Given the description of an element on the screen output the (x, y) to click on. 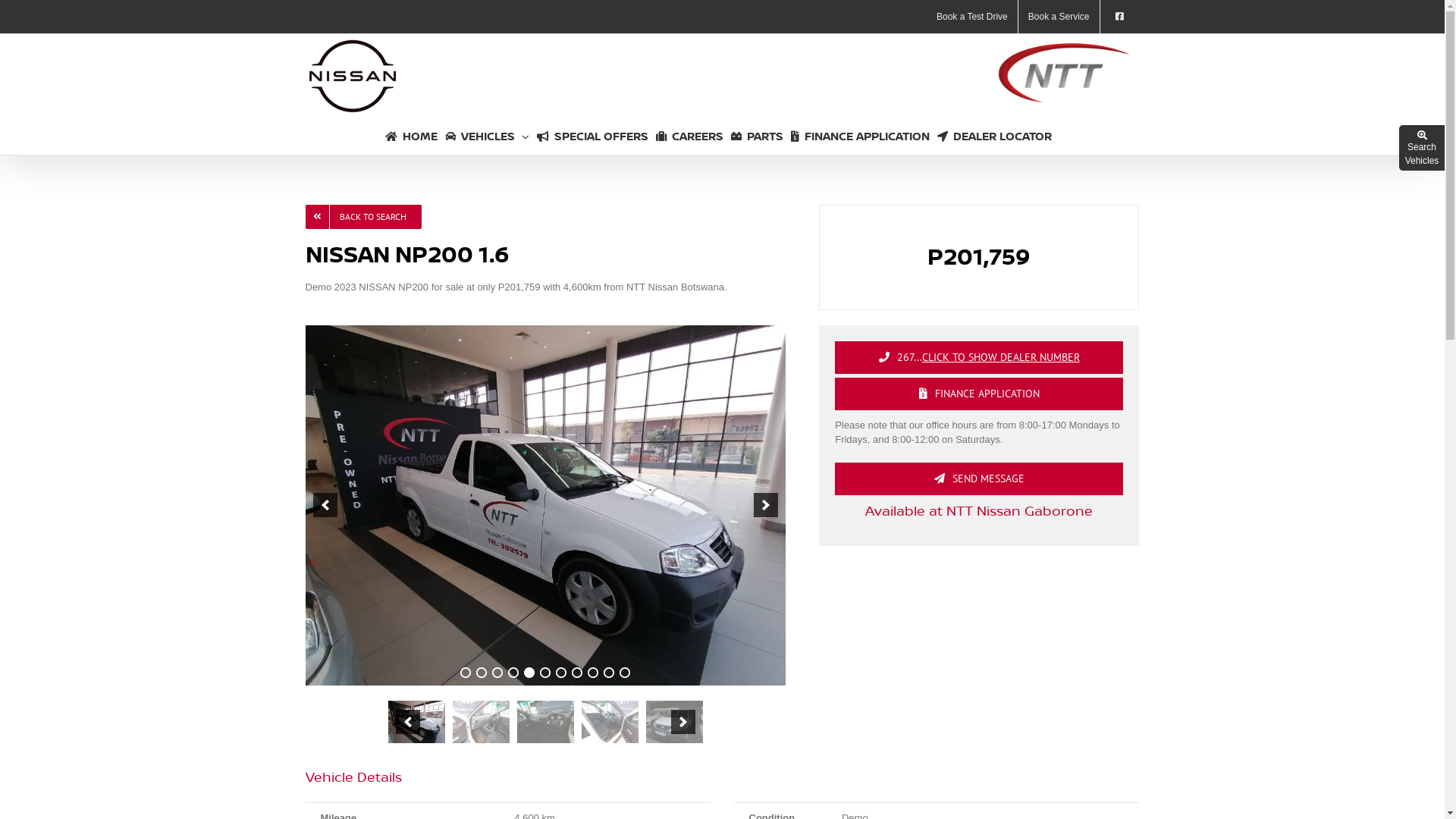
FINANCE APPLICATION Element type: text (978, 393)
Book a Service Element type: text (1058, 16)
BACK TO SEARCH Element type: text (362, 216)
HOME Element type: text (411, 135)
DEALER LOCATOR Element type: text (994, 135)
267...CLICK TO SHOW DEALER NUMBER Element type: text (978, 357)
PARTS Element type: text (757, 135)
Book a Test Drive Element type: text (971, 16)
SPECIAL OFFERS Element type: text (592, 135)
VEHICLES Element type: text (487, 135)
CAREERS Element type: text (689, 135)
SEND MESSAGE Element type: text (978, 478)
FINANCE APPLICATION Element type: text (859, 135)
Search Vehicles Element type: text (1421, 148)
